Given the description of an element on the screen output the (x, y) to click on. 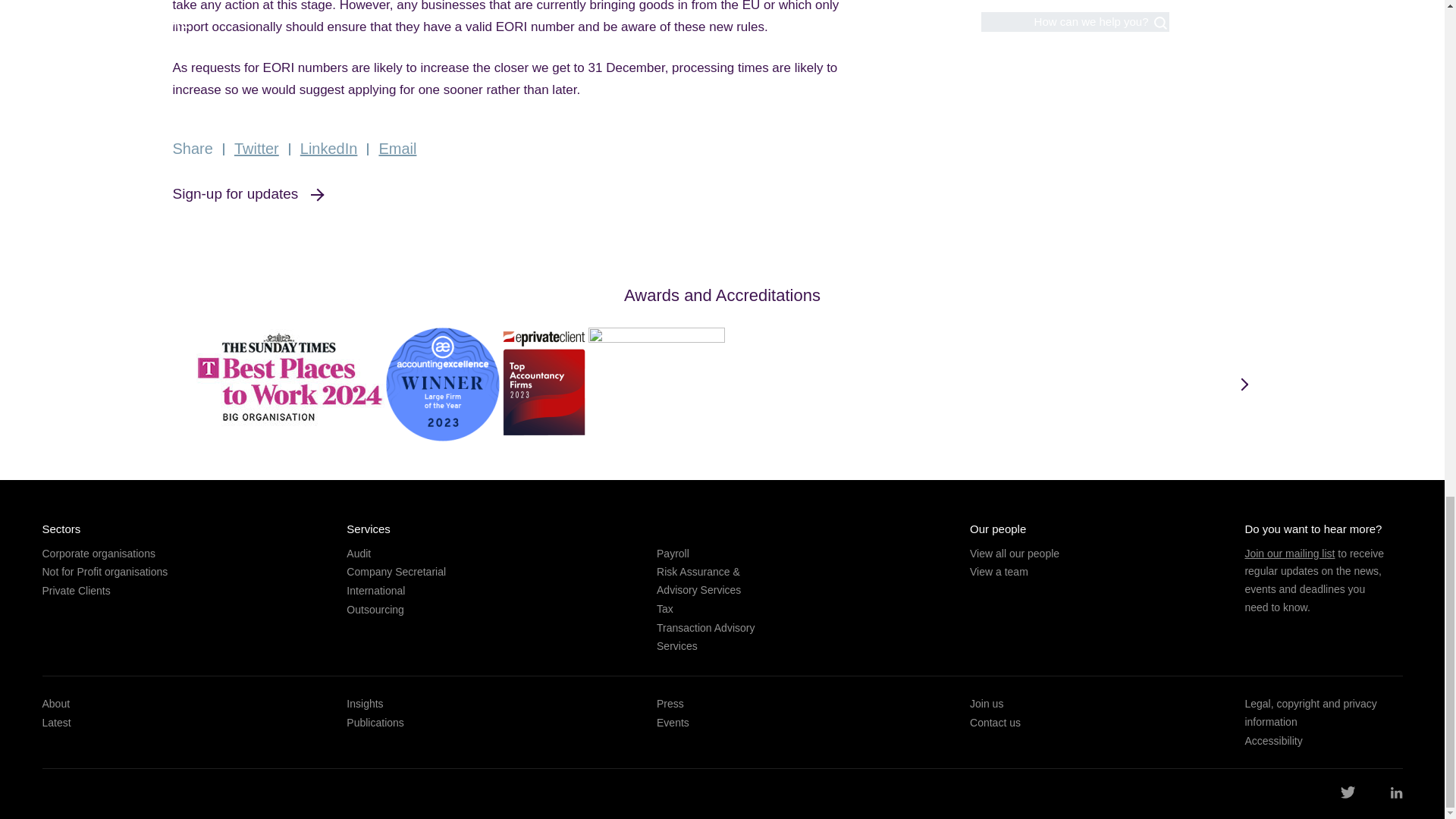
Share on Twitter - opens in a new window (256, 148)
Share on LinkedIn - opens in a new window (328, 148)
